Given the description of an element on the screen output the (x, y) to click on. 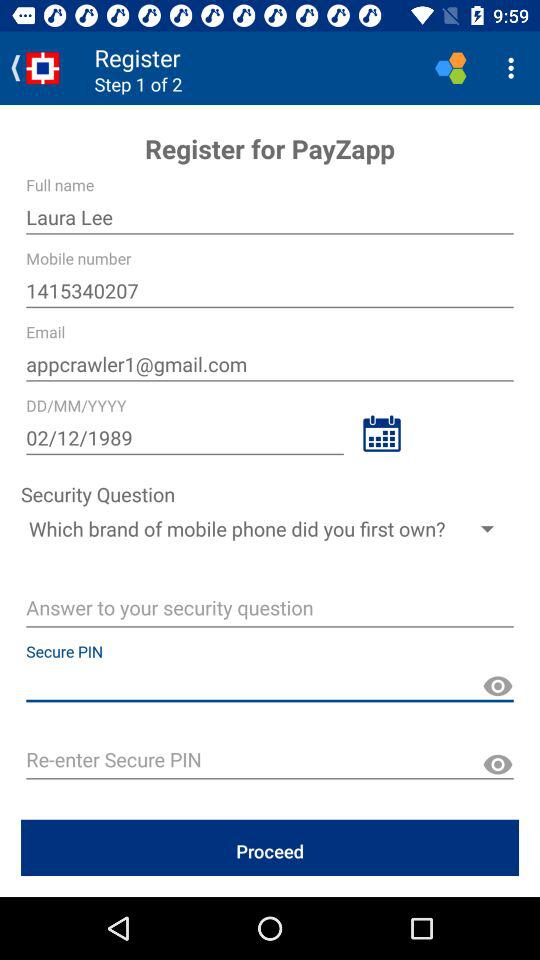
go to calendar (381, 433)
